Given the description of an element on the screen output the (x, y) to click on. 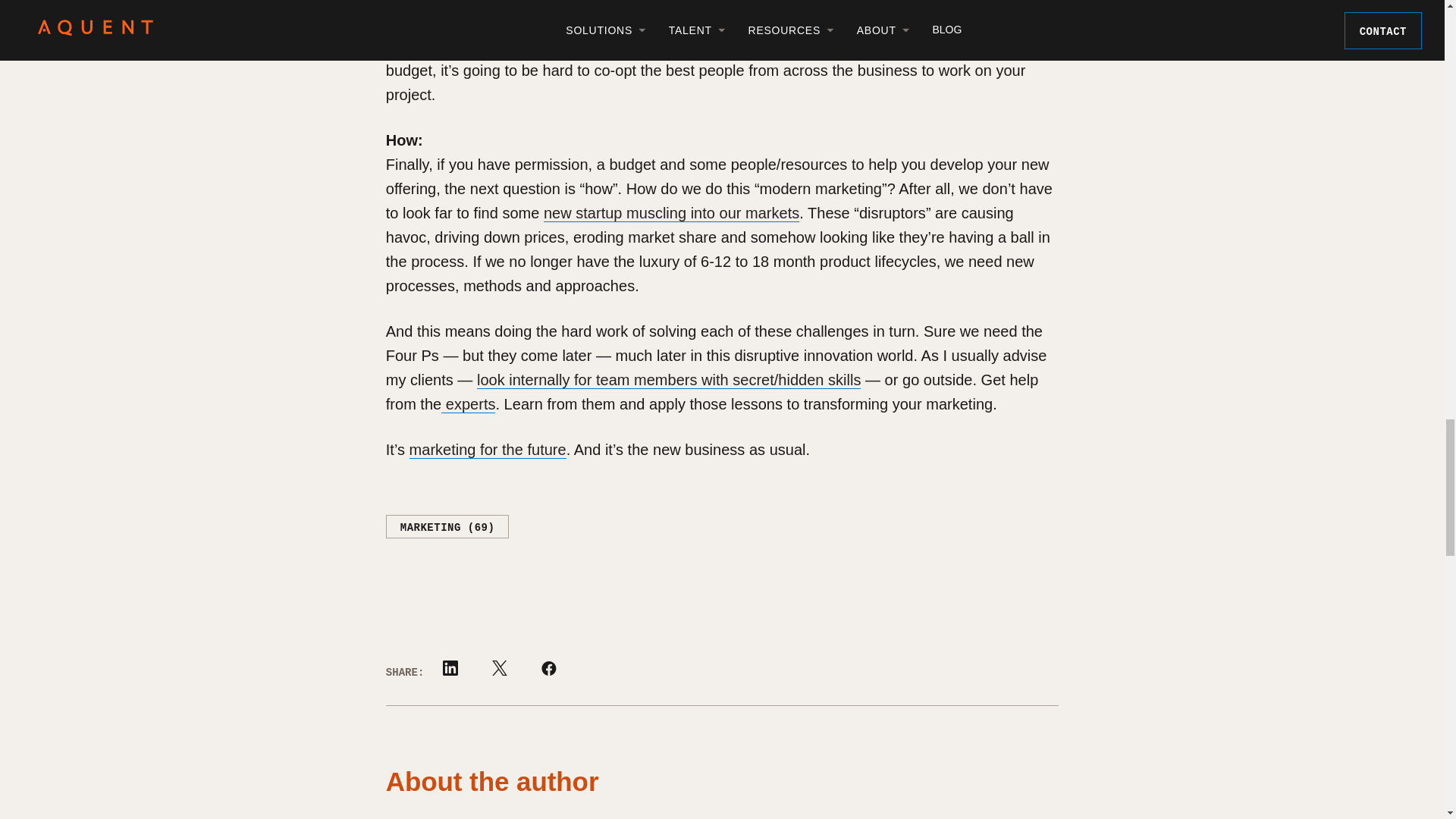
Marketing (447, 526)
